Given the description of an element on the screen output the (x, y) to click on. 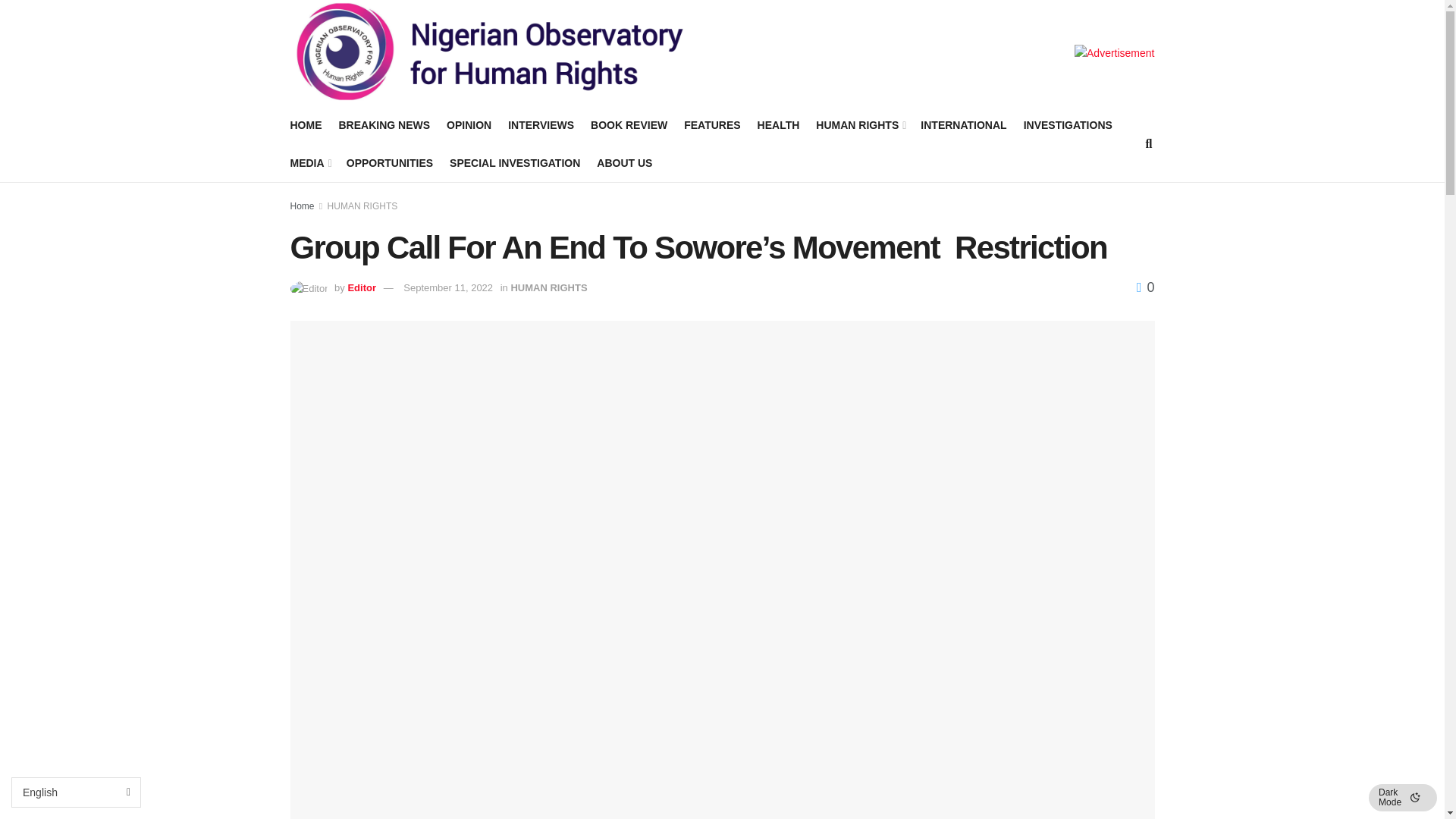
HUMAN RIGHTS (859, 124)
SPECIAL INVESTIGATION (514, 162)
BOOK REVIEW (628, 124)
MEDIA (309, 162)
ABOUT US (624, 162)
INTERNATIONAL (963, 124)
HOME (305, 124)
OPPORTUNITIES (389, 162)
FEATURES (711, 124)
BREAKING NEWS (383, 124)
